Given the description of an element on the screen output the (x, y) to click on. 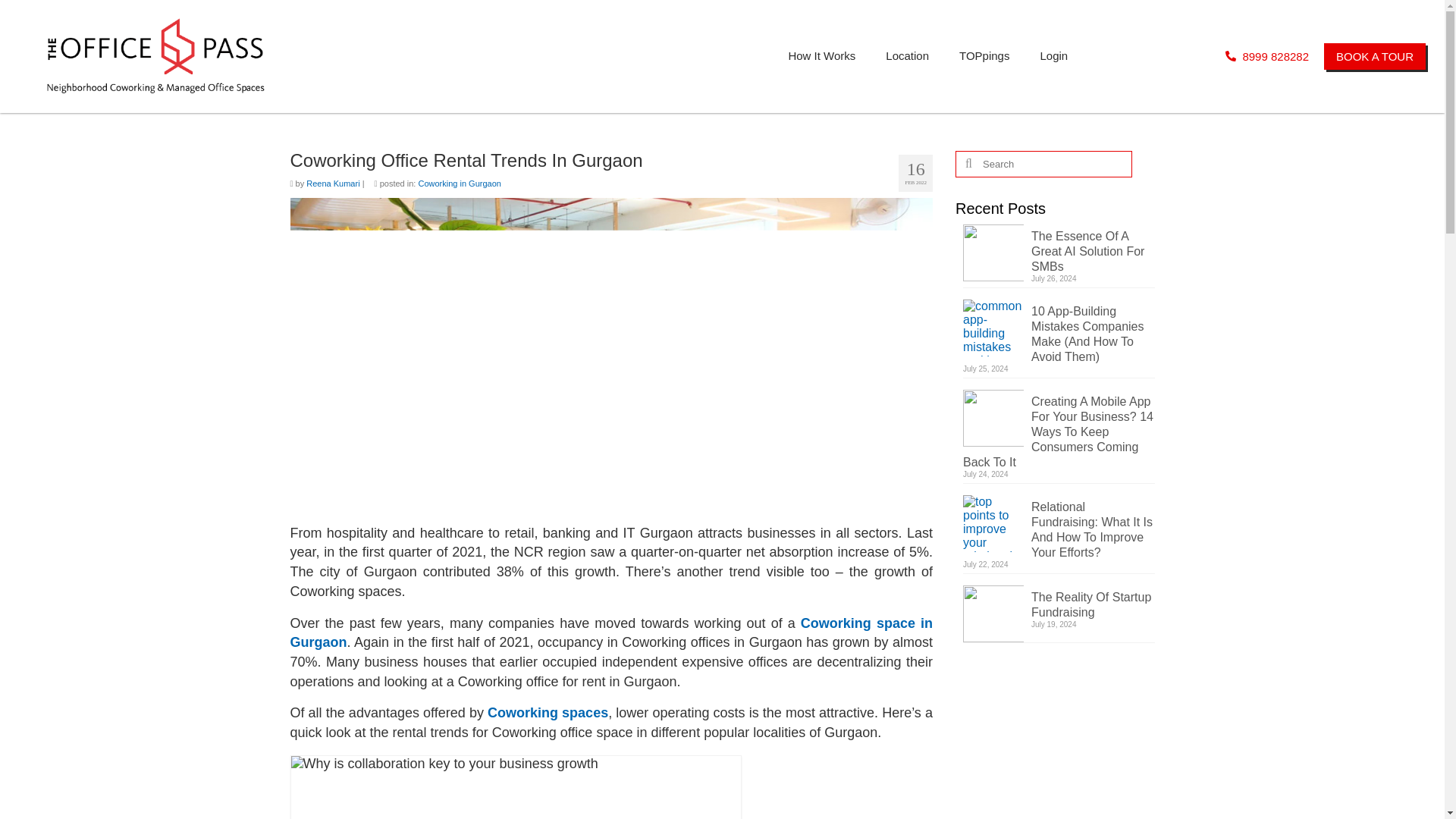
BOOK A TOUR (1374, 56)
How It Works (821, 55)
Location (906, 55)
The Reality Of Startup Fundraising (1058, 602)
The Essence Of A Great AI Solution For SMBs (1058, 249)
8999 828282 (1266, 56)
Login (1054, 55)
TOPpings (984, 55)
